Given the description of an element on the screen output the (x, y) to click on. 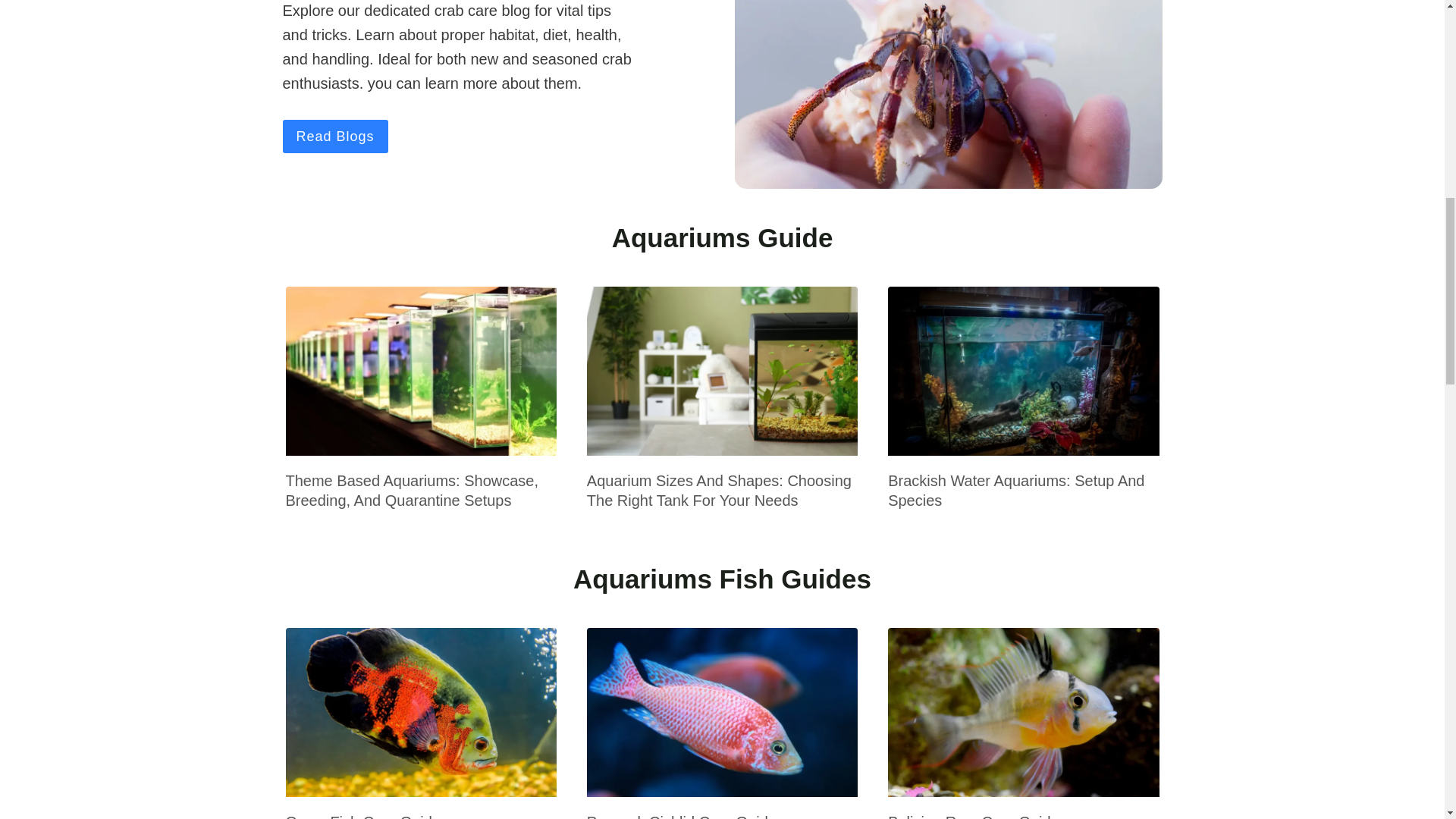
Peacock Cichlid Care Guide: Feeding,Breeding Tips (683, 816)
Bolivian Ram Care Guide: Feeding,Breeding Tips (975, 816)
Brackish Water Aquariums: Setup And Species (1016, 490)
Oscar Fish Care Guide: Feeding,Breeding Tips (364, 816)
Read Blogs (334, 135)
